Given the description of an element on the screen output the (x, y) to click on. 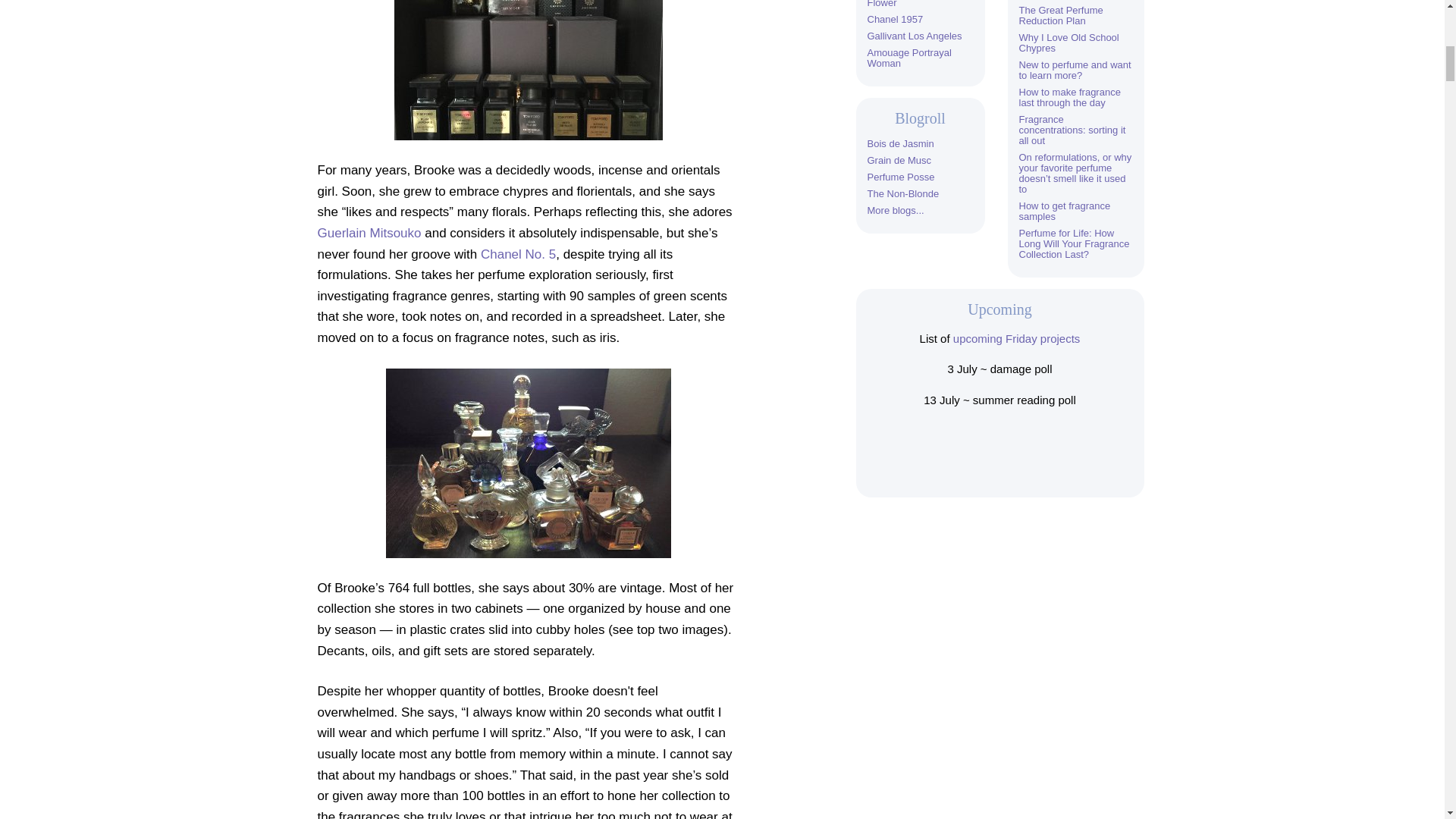
Guerlain Mitsouko (368, 233)
Chanel No. 5 (518, 254)
